Given the description of an element on the screen output the (x, y) to click on. 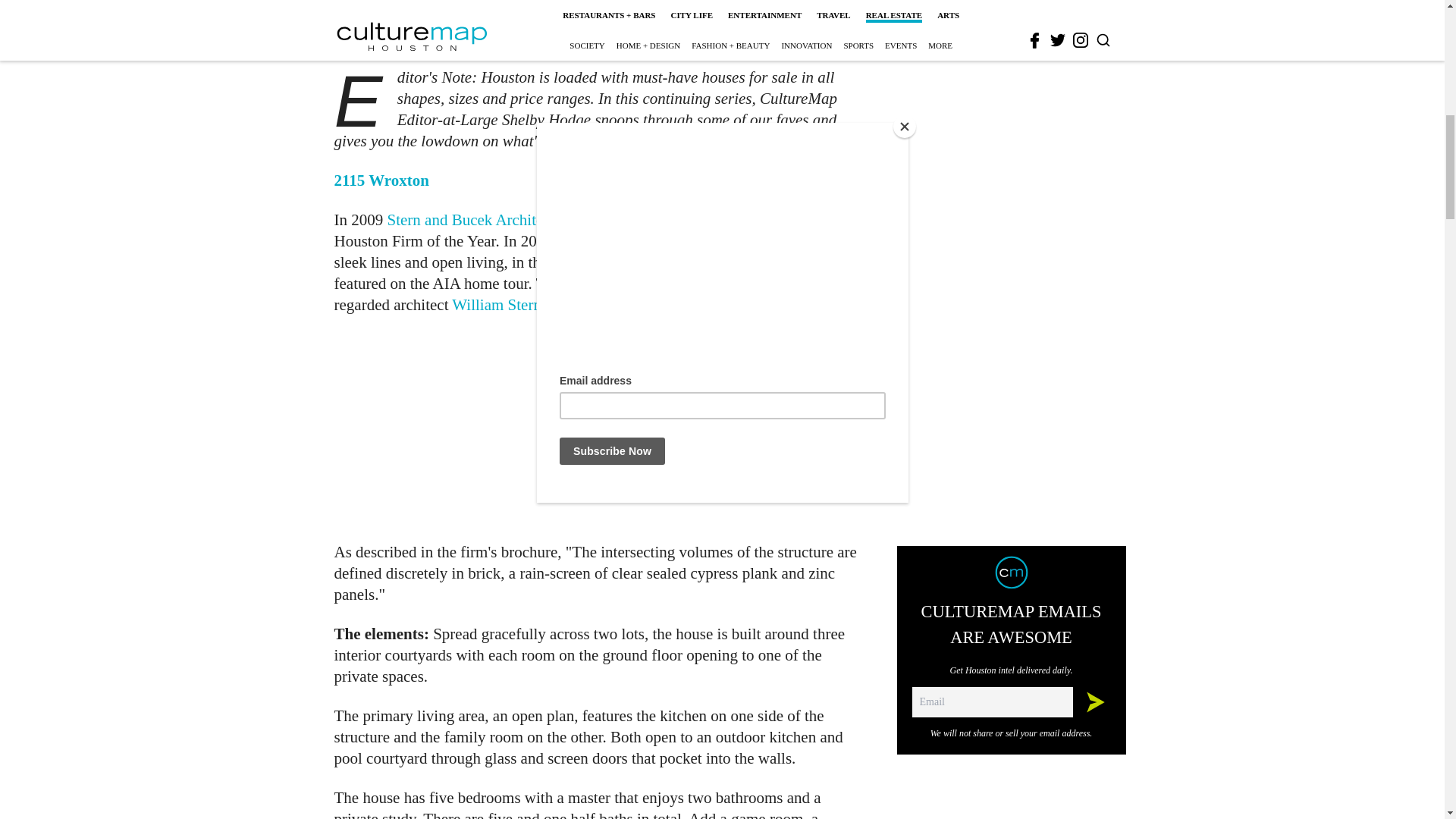
3rd party ad content (600, 428)
3rd party ad content (1011, 5)
